Given the description of an element on the screen output the (x, y) to click on. 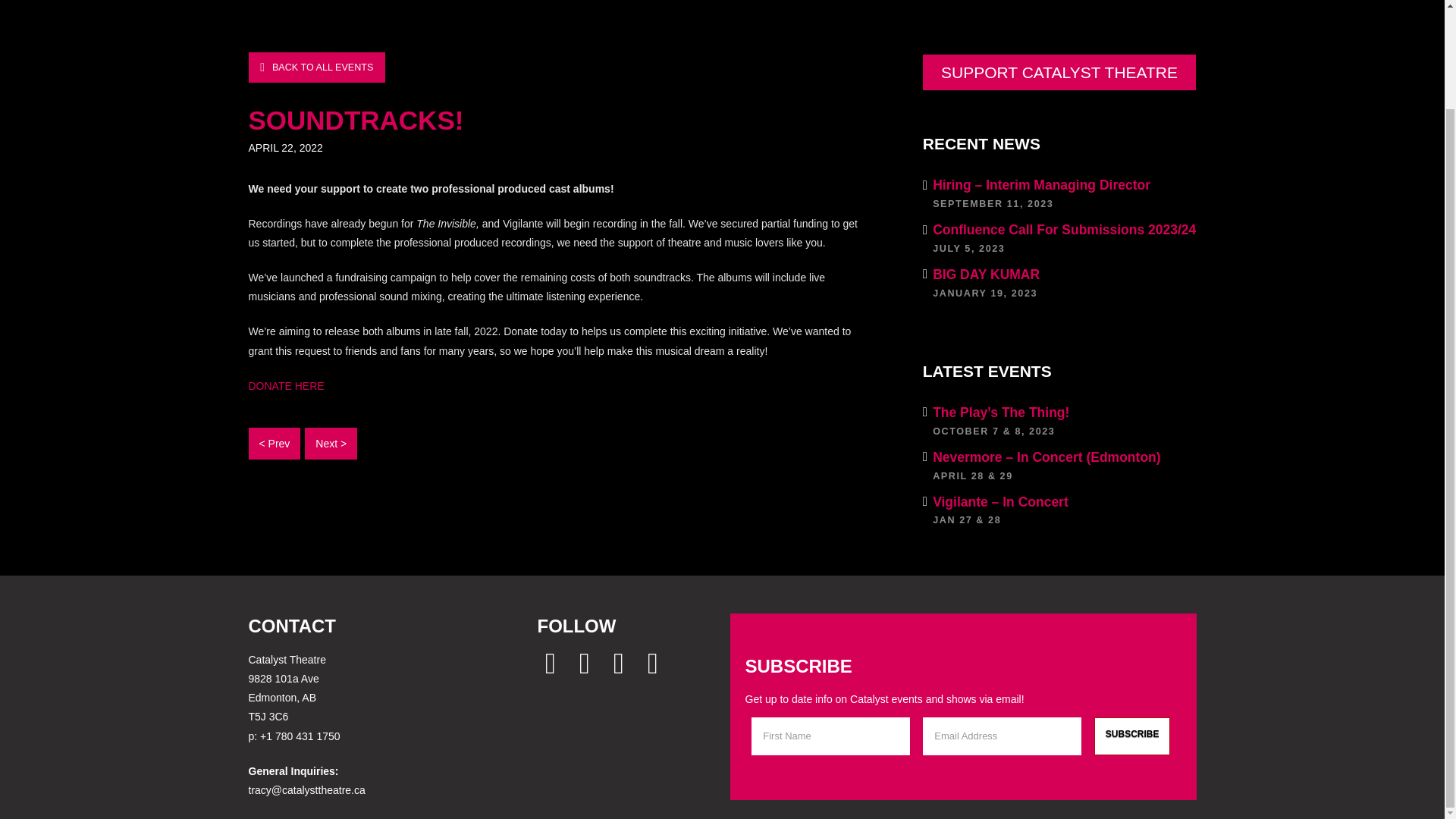
SUBSCRIBE (1059, 282)
BACK TO ALL EVENTS (1132, 736)
DONATE HERE  (316, 67)
SUPPORT CATALYST THEATRE (287, 386)
SUBSCRIBE (1059, 72)
